Given the description of an element on the screen output the (x, y) to click on. 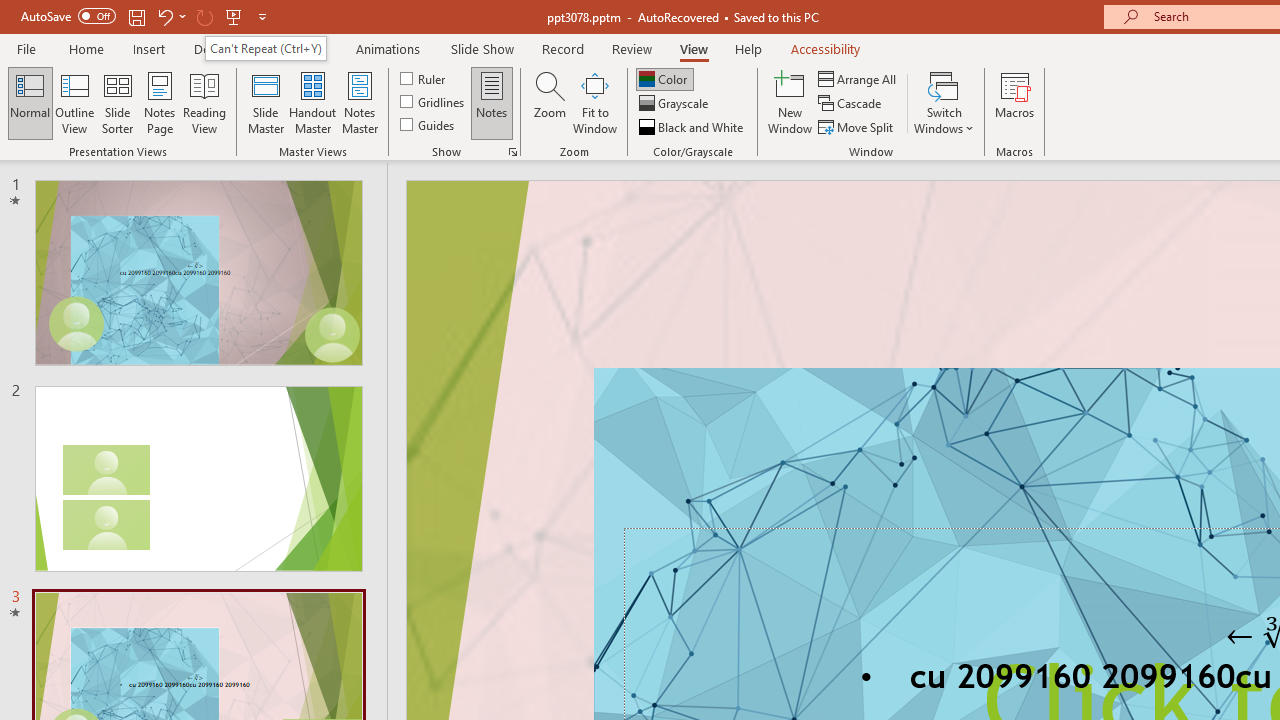
Notes Page (159, 102)
Cascade (851, 103)
Macros (1014, 102)
